Given the description of an element on the screen output the (x, y) to click on. 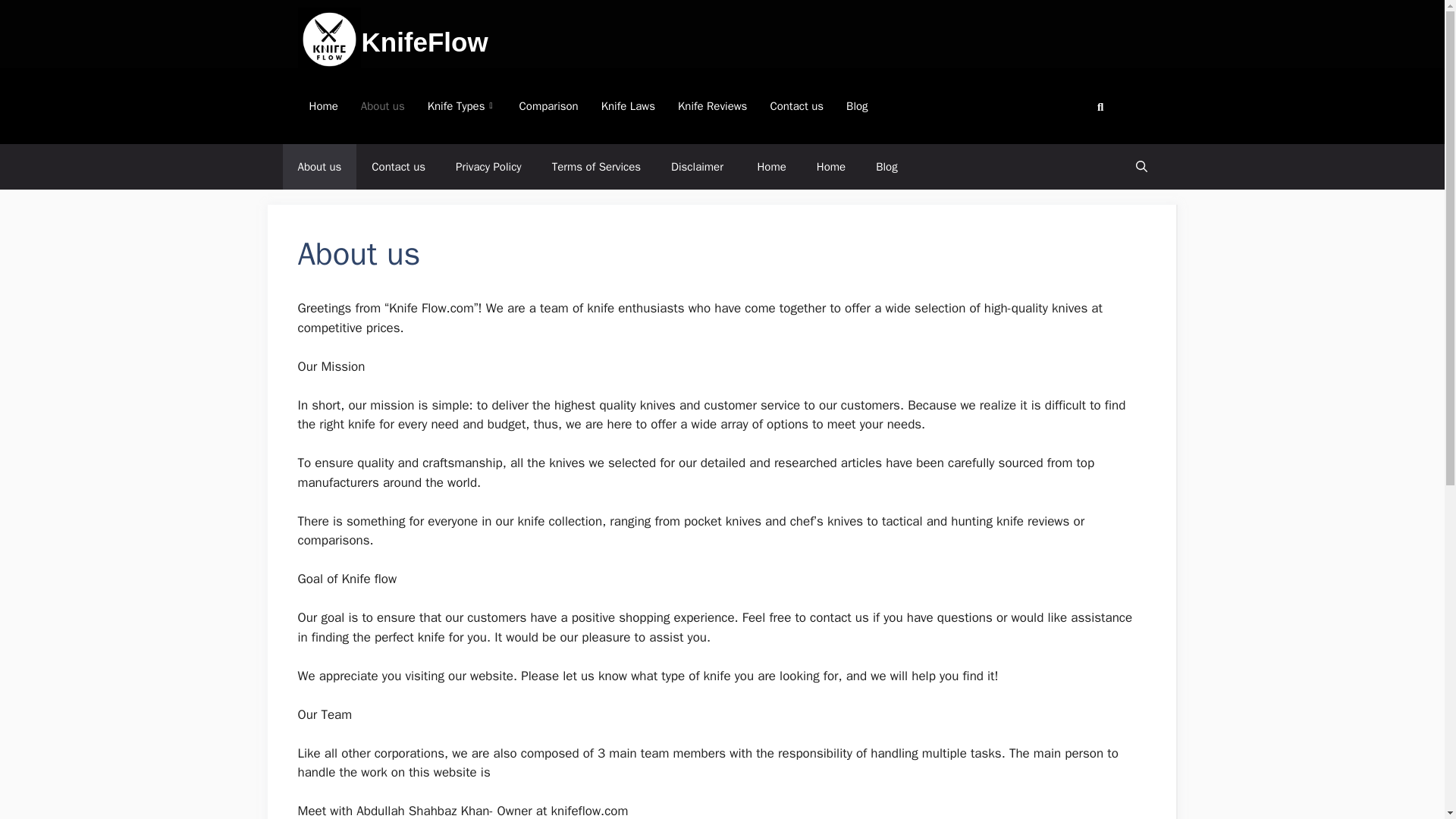
Knife Types (462, 106)
Home (831, 166)
Privacy Policy (489, 166)
Knife Laws (627, 106)
Disclaimer  (698, 166)
KnifeFlow (424, 41)
Contact us (796, 106)
Home (770, 166)
Comparison (548, 106)
About us (382, 106)
Terms of Services (596, 166)
Contact us (398, 166)
Search (1095, 105)
Knife Reviews (712, 106)
Blog (886, 166)
